Given the description of an element on the screen output the (x, y) to click on. 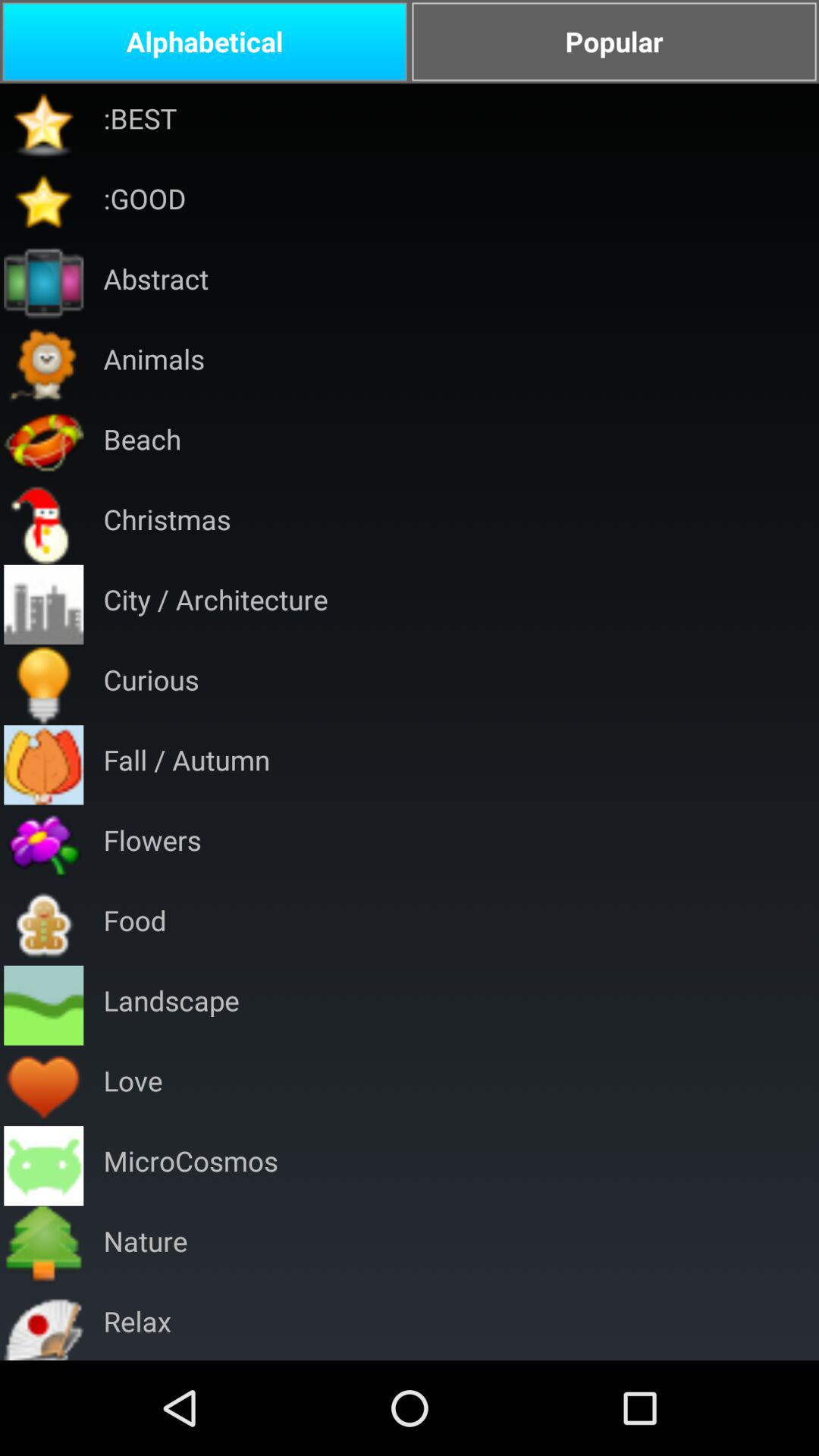
launch the city / architecture (215, 604)
